Given the description of an element on the screen output the (x, y) to click on. 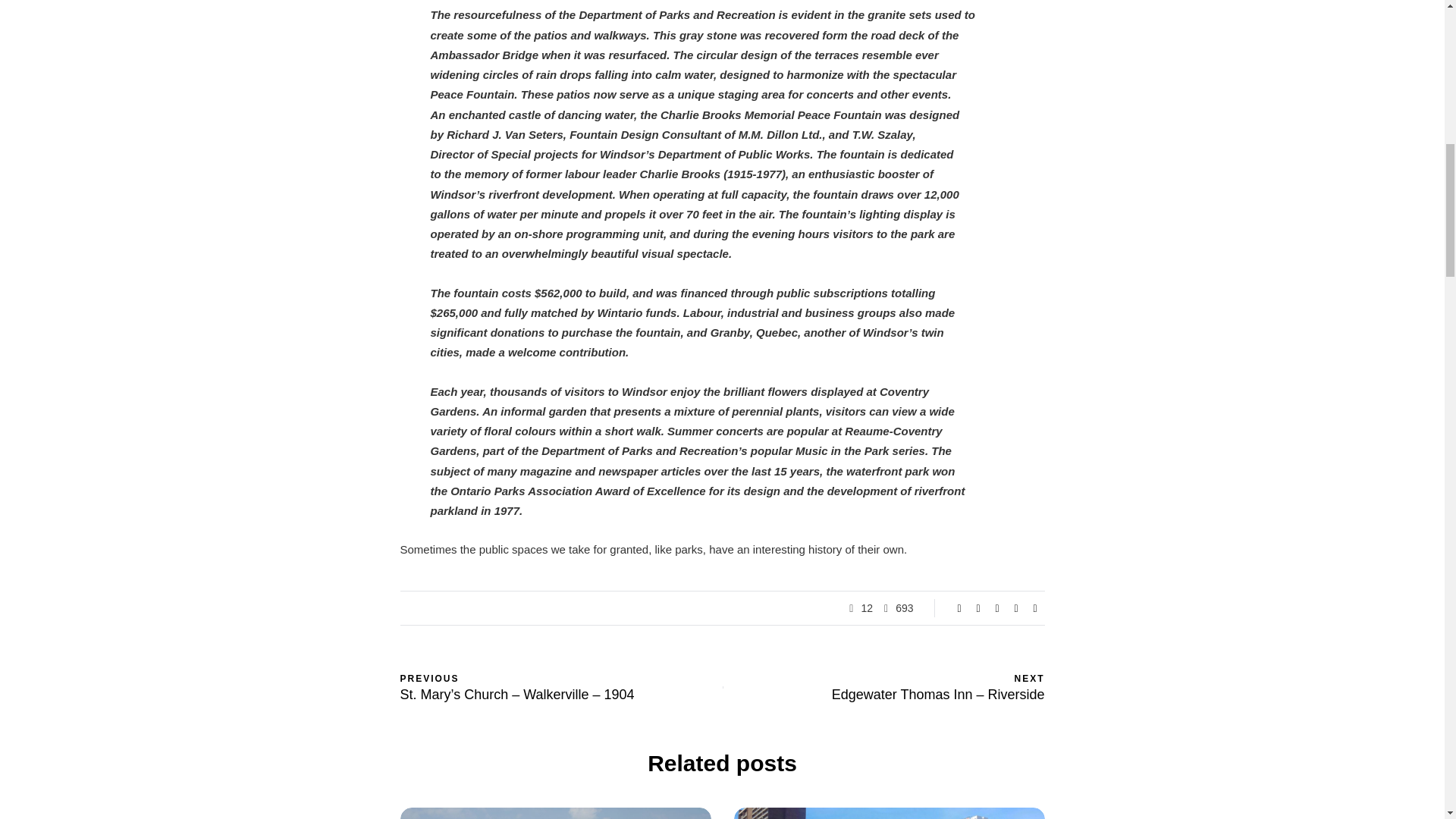
Share by Email (1034, 607)
Share with LinkedIn (996, 607)
Pin this (1016, 607)
12 (866, 607)
Share with Facebook (958, 607)
Tweet this (978, 607)
